Given the description of an element on the screen output the (x, y) to click on. 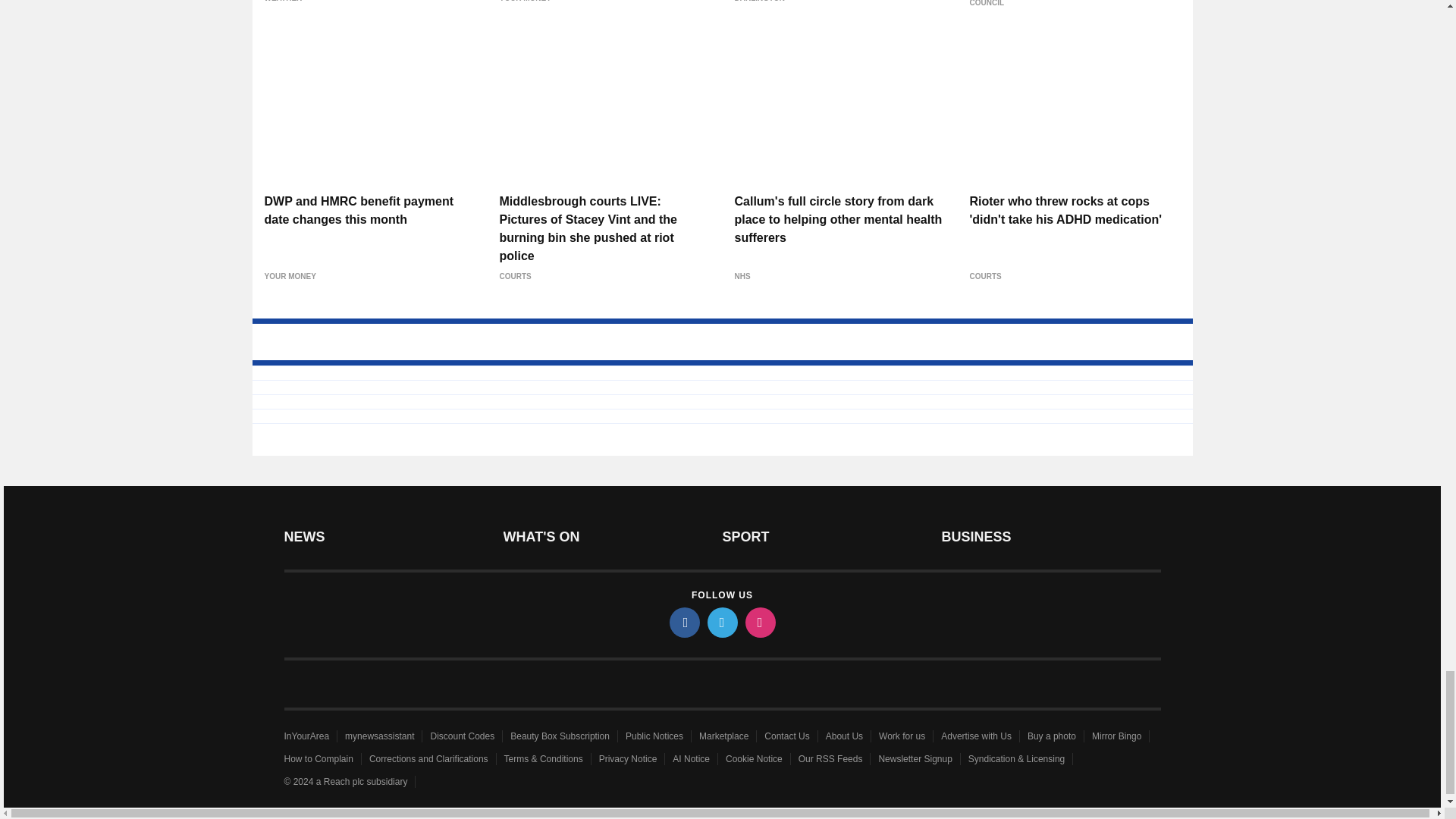
twitter (721, 622)
instagram (759, 622)
facebook (683, 622)
